Given the description of an element on the screen output the (x, y) to click on. 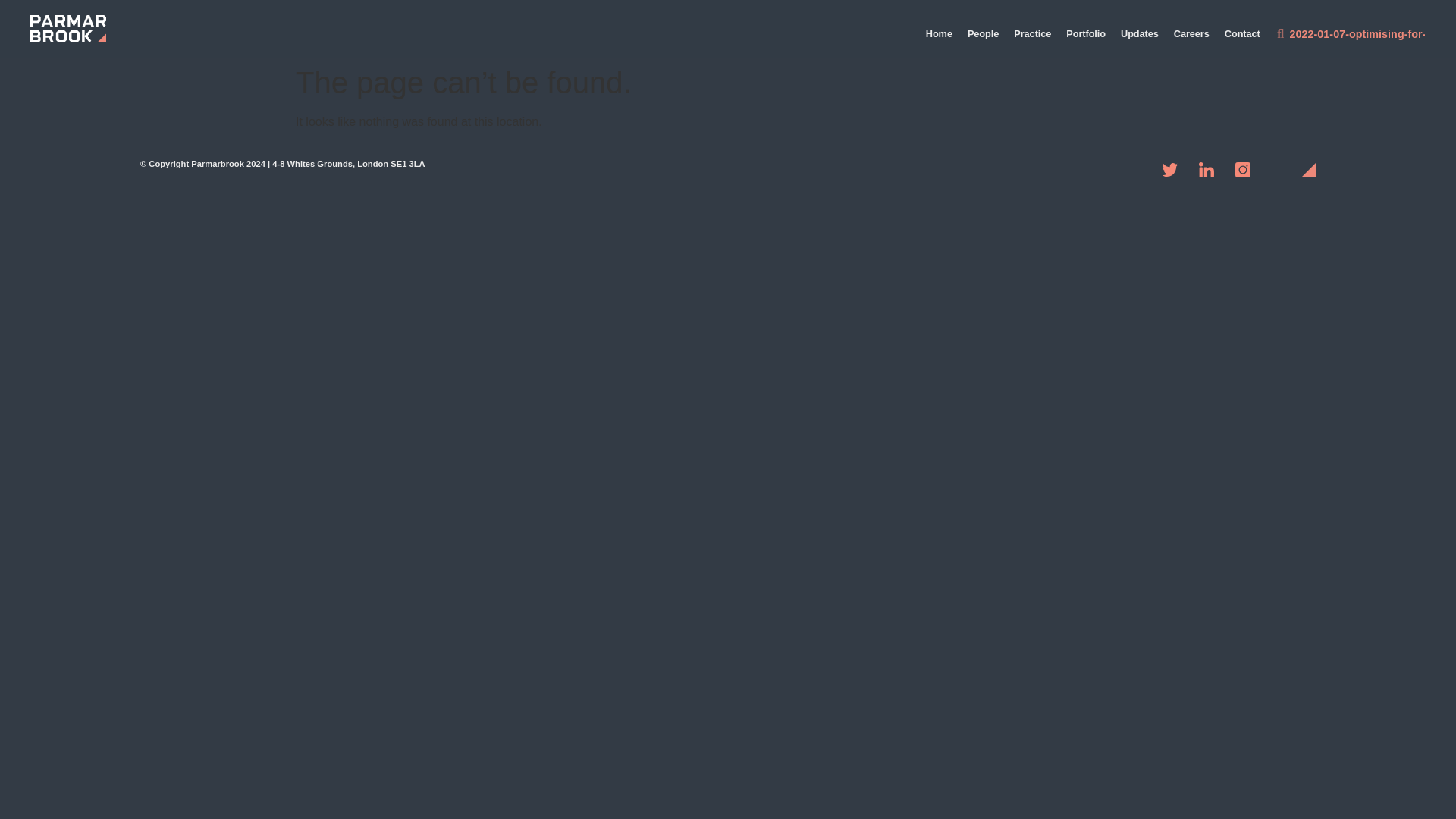
People (982, 33)
2022-01-07-optimising-for-embodied-carbon (1362, 33)
Home (938, 33)
Updates (1139, 33)
Contact (1242, 33)
Practice (1032, 33)
2022-01-07-optimising-for-embodied-carbon (1362, 33)
Portfolio (1085, 33)
Careers (1191, 33)
